Given the description of an element on the screen output the (x, y) to click on. 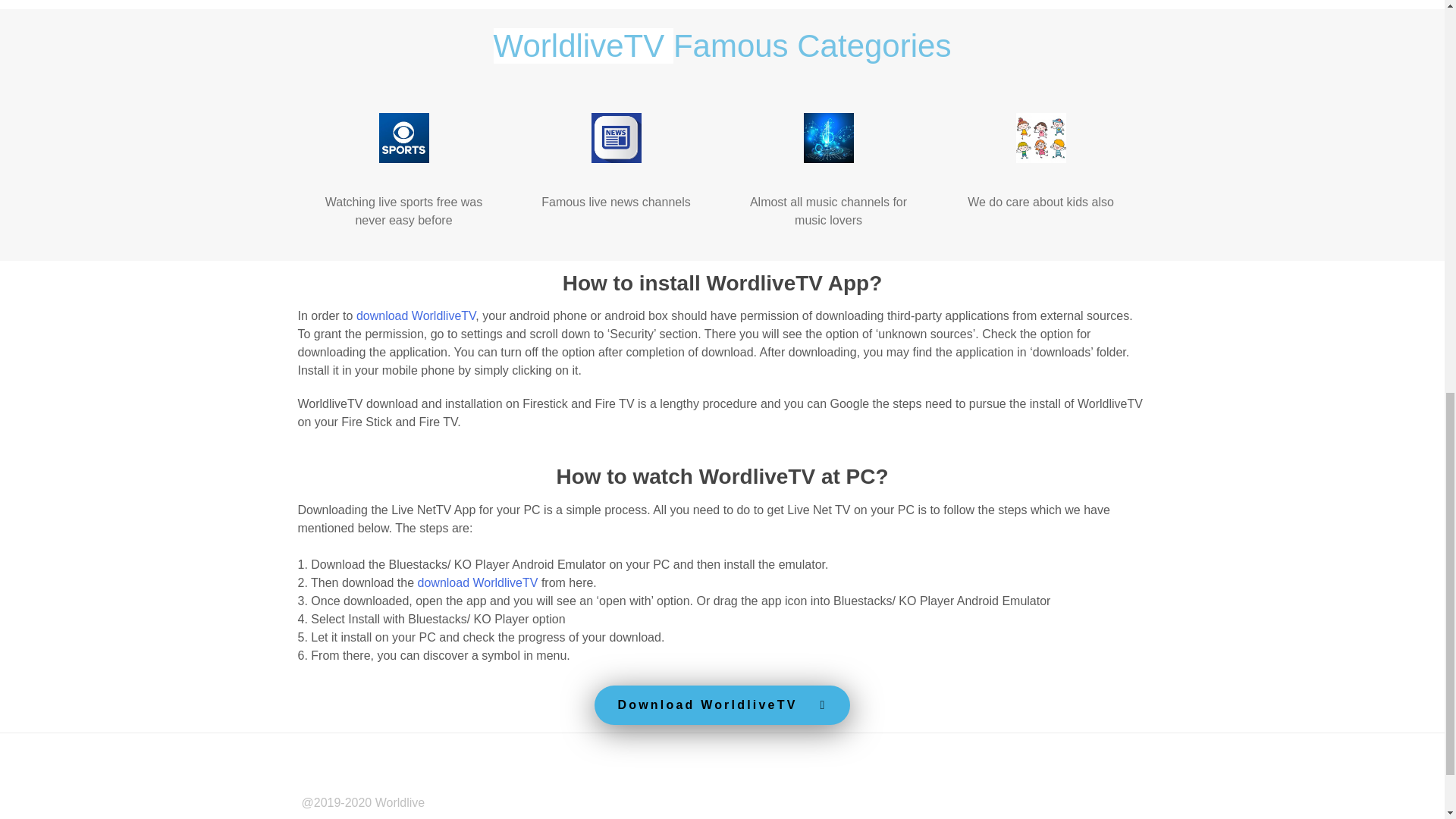
download WorldliveTV (416, 315)
download WorldliveTV (477, 582)
Download WorldliveTV (721, 704)
